Given the description of an element on the screen output the (x, y) to click on. 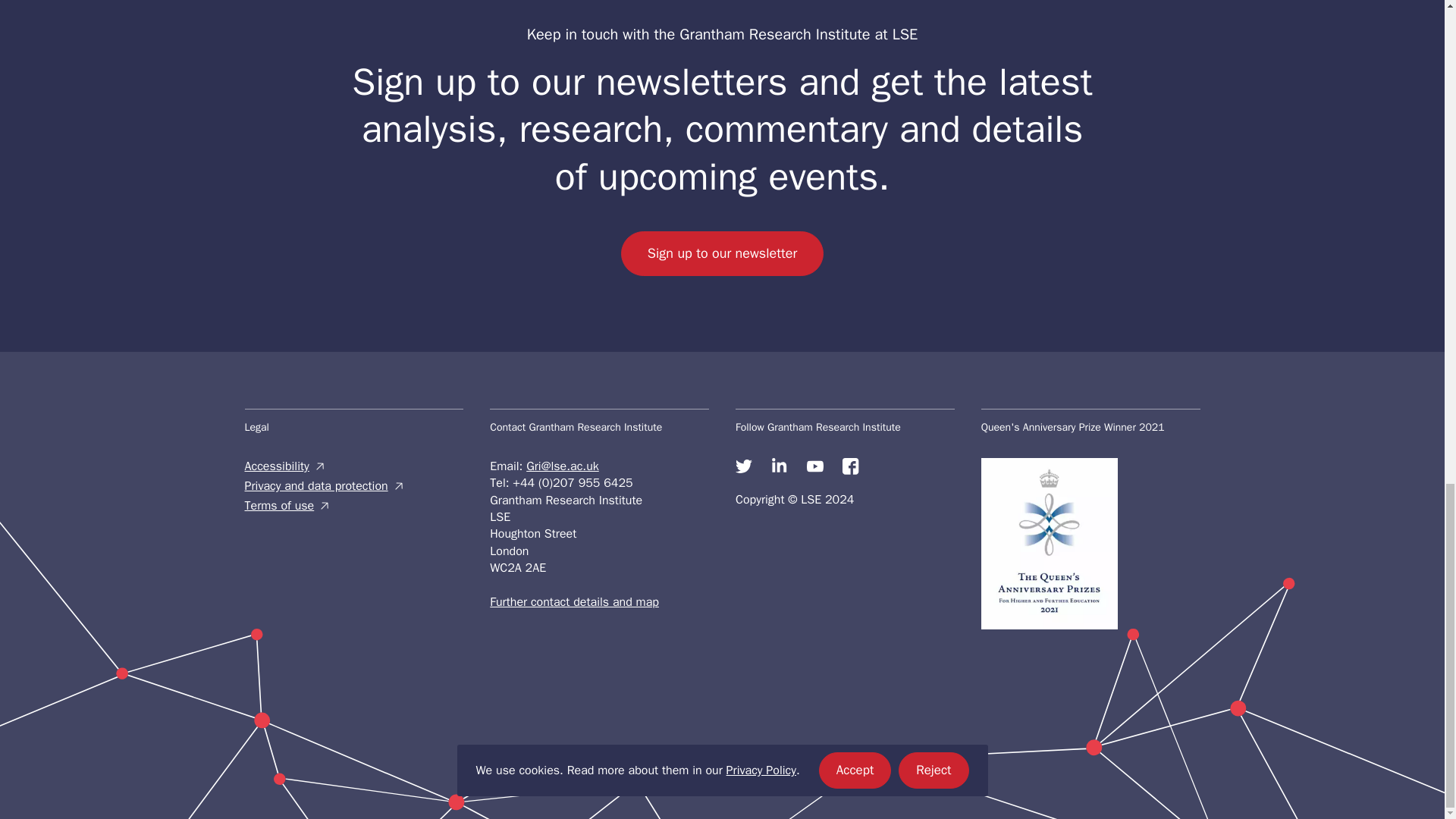
Terms of use (353, 505)
Privacy and data protection (353, 485)
Accessibility (353, 466)
